Given the description of an element on the screen output the (x, y) to click on. 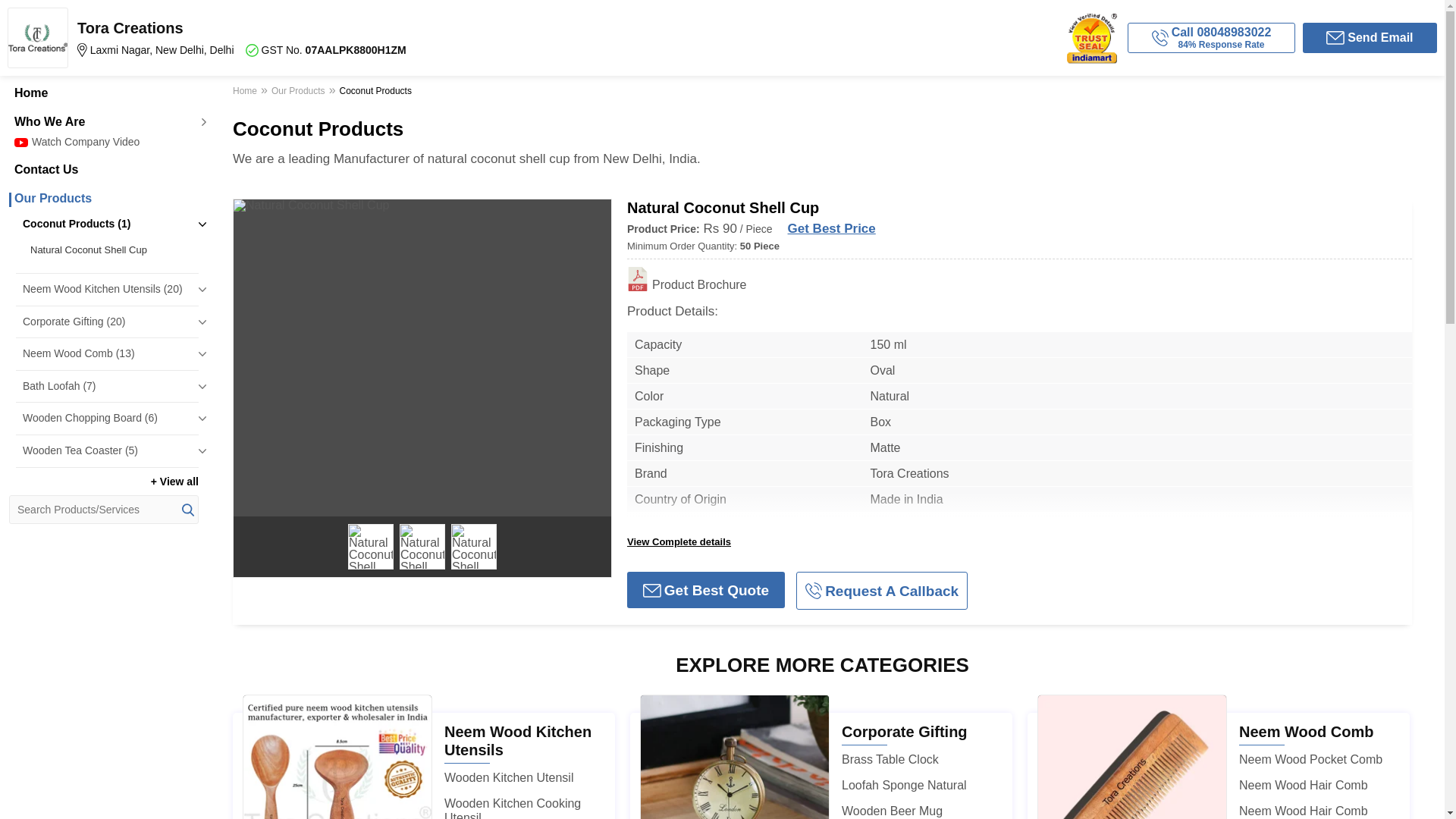
Natural Coconut Shell Cup (110, 250)
Contact Us (103, 169)
Our Products (103, 198)
Home (103, 92)
Who We Are (103, 121)
